Given the description of an element on the screen output the (x, y) to click on. 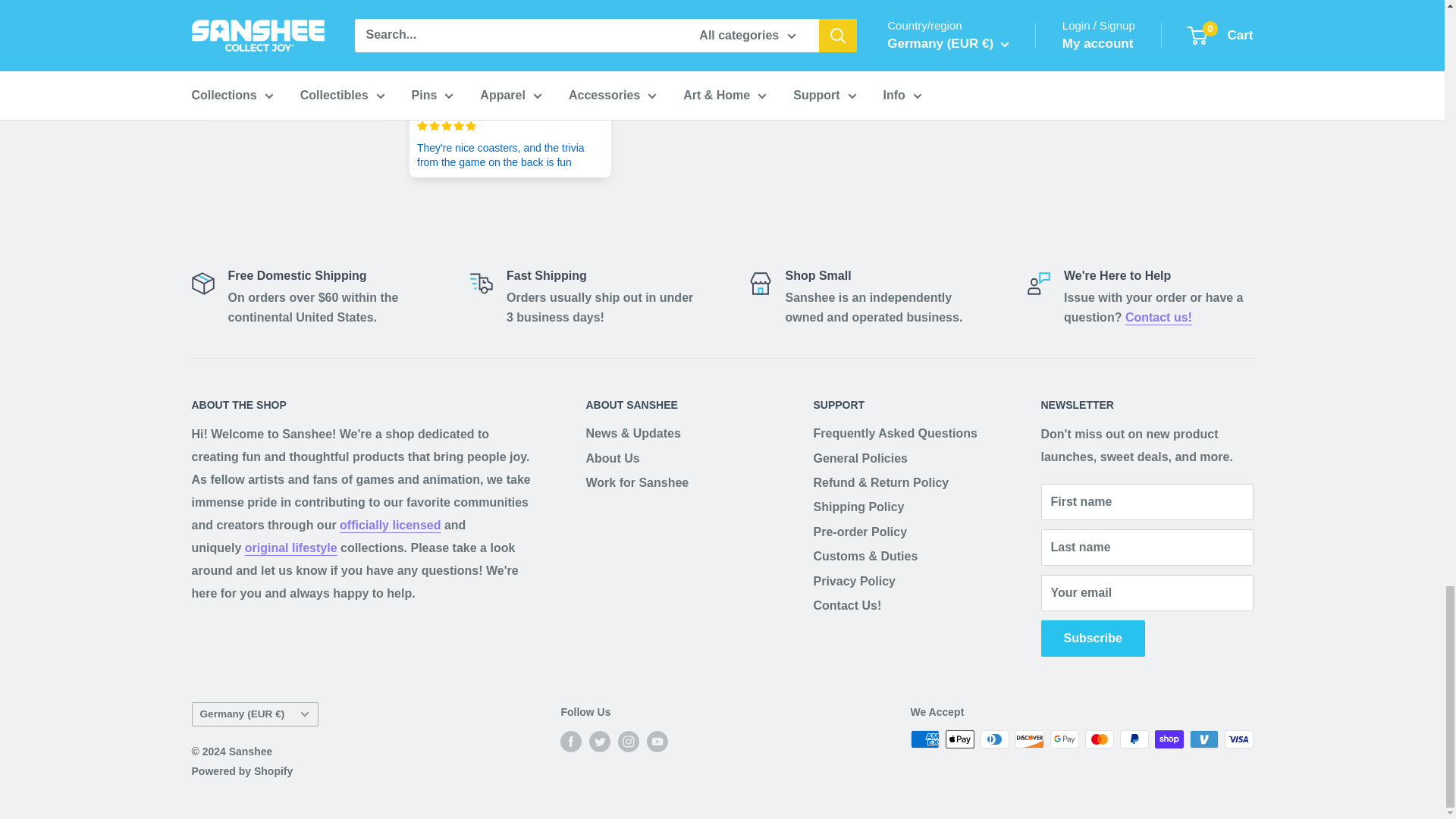
Sanshee Original Collection (290, 547)
The Officially Licensed Collections from Sanshee (390, 524)
Contact Us! (1158, 317)
